Given the description of an element on the screen output the (x, y) to click on. 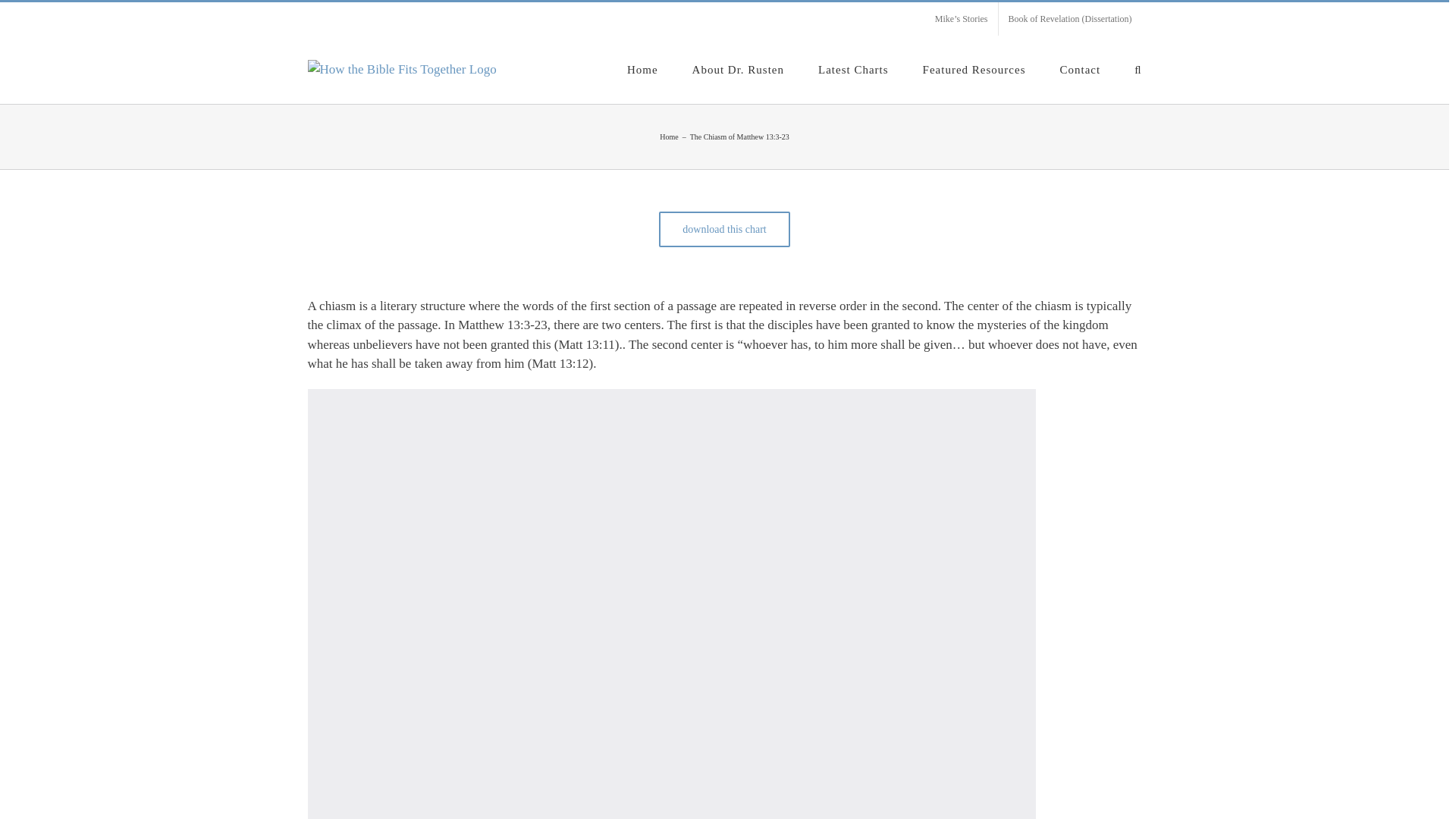
Featured Resources (974, 68)
About Dr. Rusten (738, 68)
Latest Charts (853, 68)
download this chart (724, 228)
Home (668, 135)
